Given the description of an element on the screen output the (x, y) to click on. 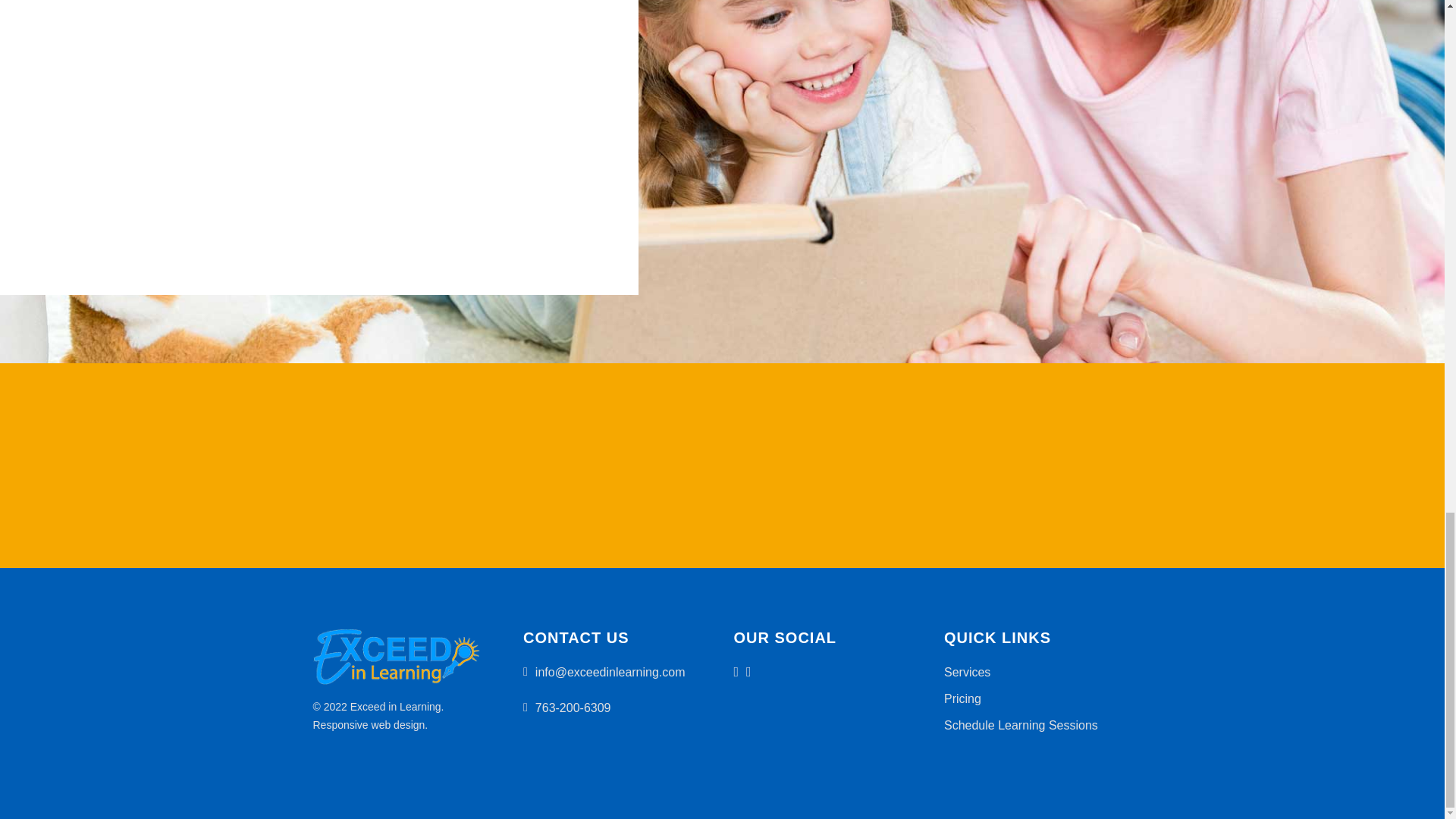
763-200-6309 (573, 707)
Services (966, 671)
Schedule Learning Sessions (1020, 725)
Responsive web design. (370, 725)
Pricing (962, 698)
